Given the description of an element on the screen output the (x, y) to click on. 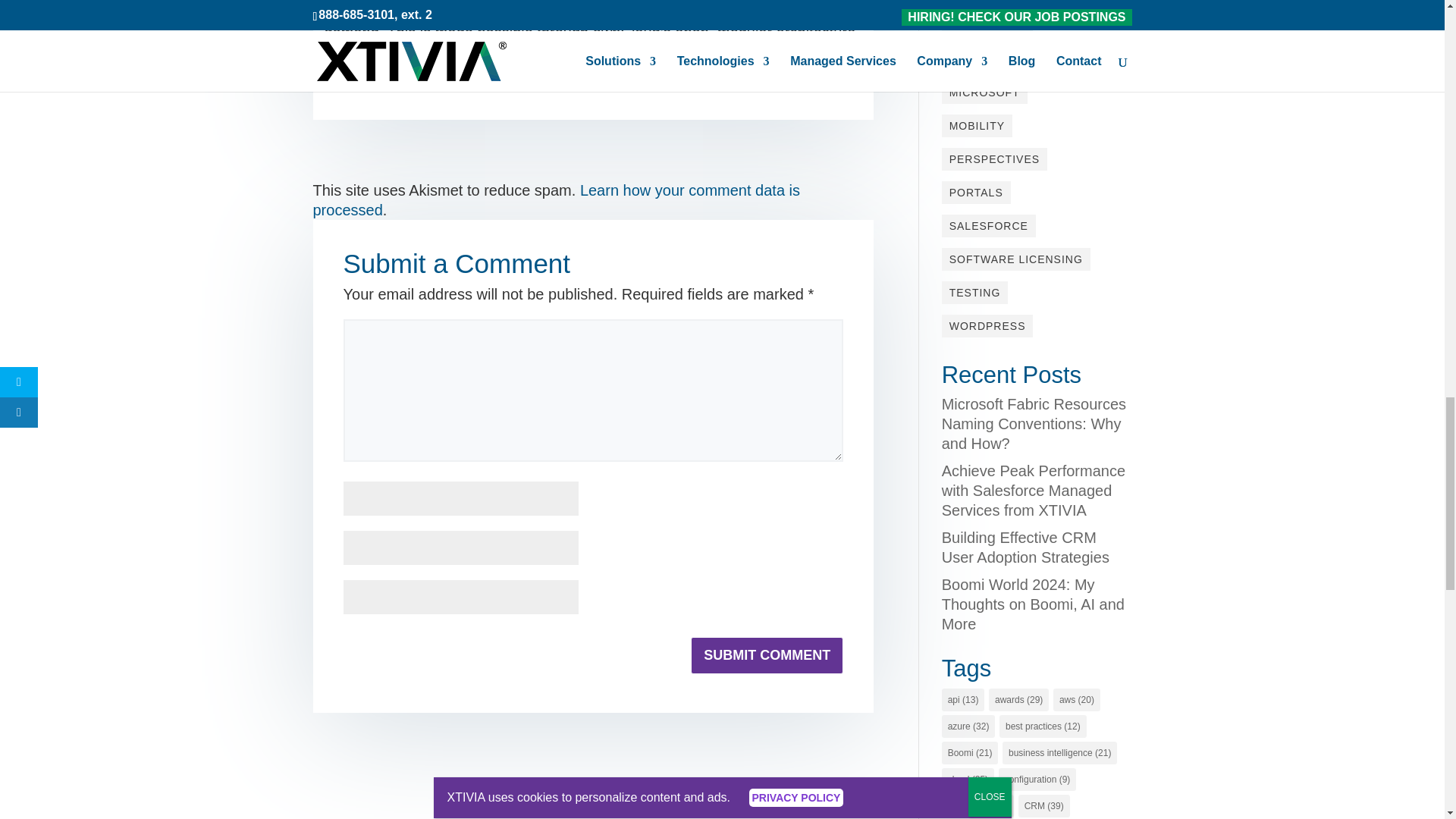
Submit Comment (766, 655)
